Given the description of an element on the screen output the (x, y) to click on. 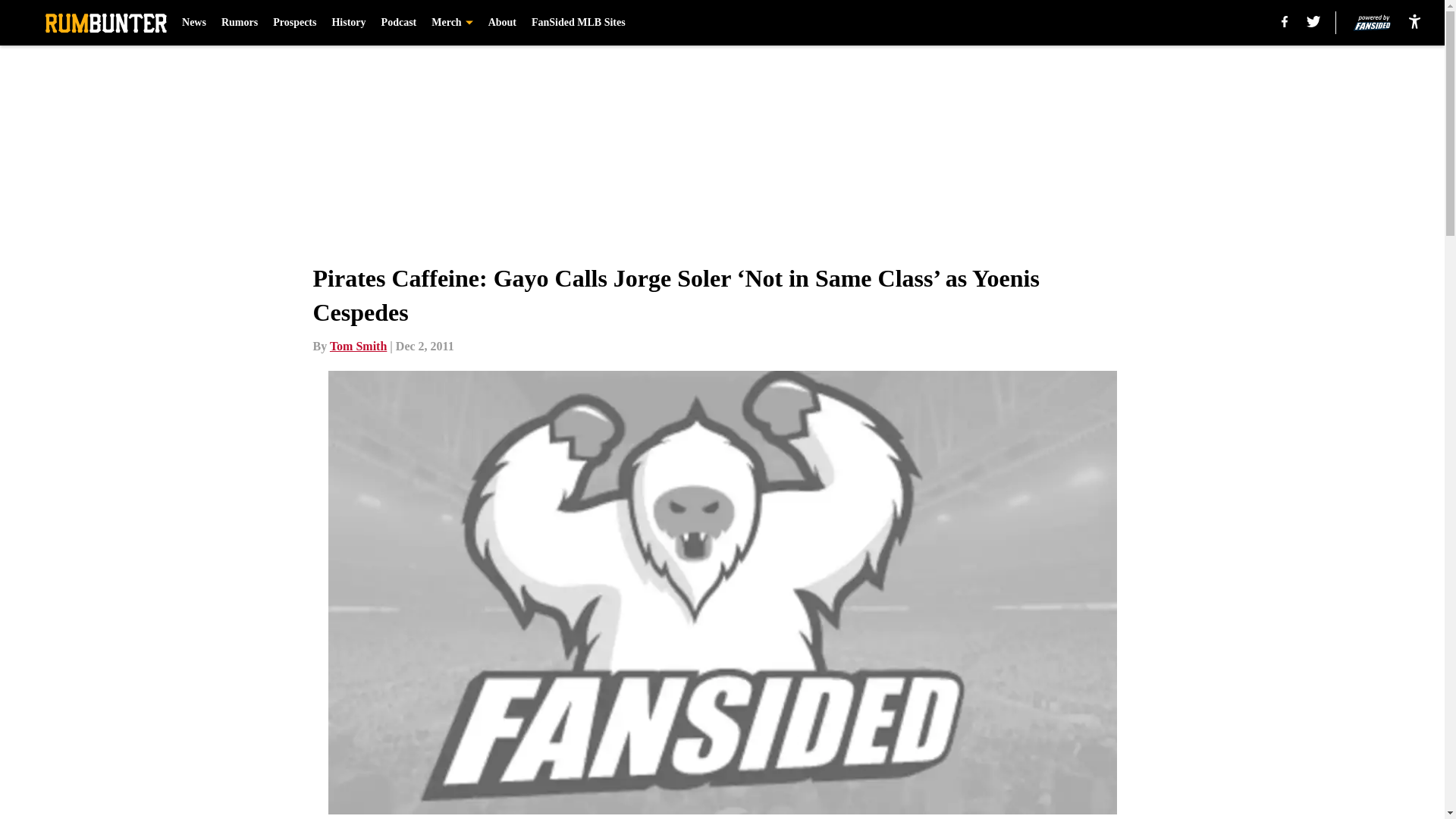
Tom Smith (358, 345)
Prospects (294, 22)
News (194, 22)
History (348, 22)
FanSided MLB Sites (578, 22)
About (501, 22)
Rumors (239, 22)
Podcast (398, 22)
